Given the description of an element on the screen output the (x, y) to click on. 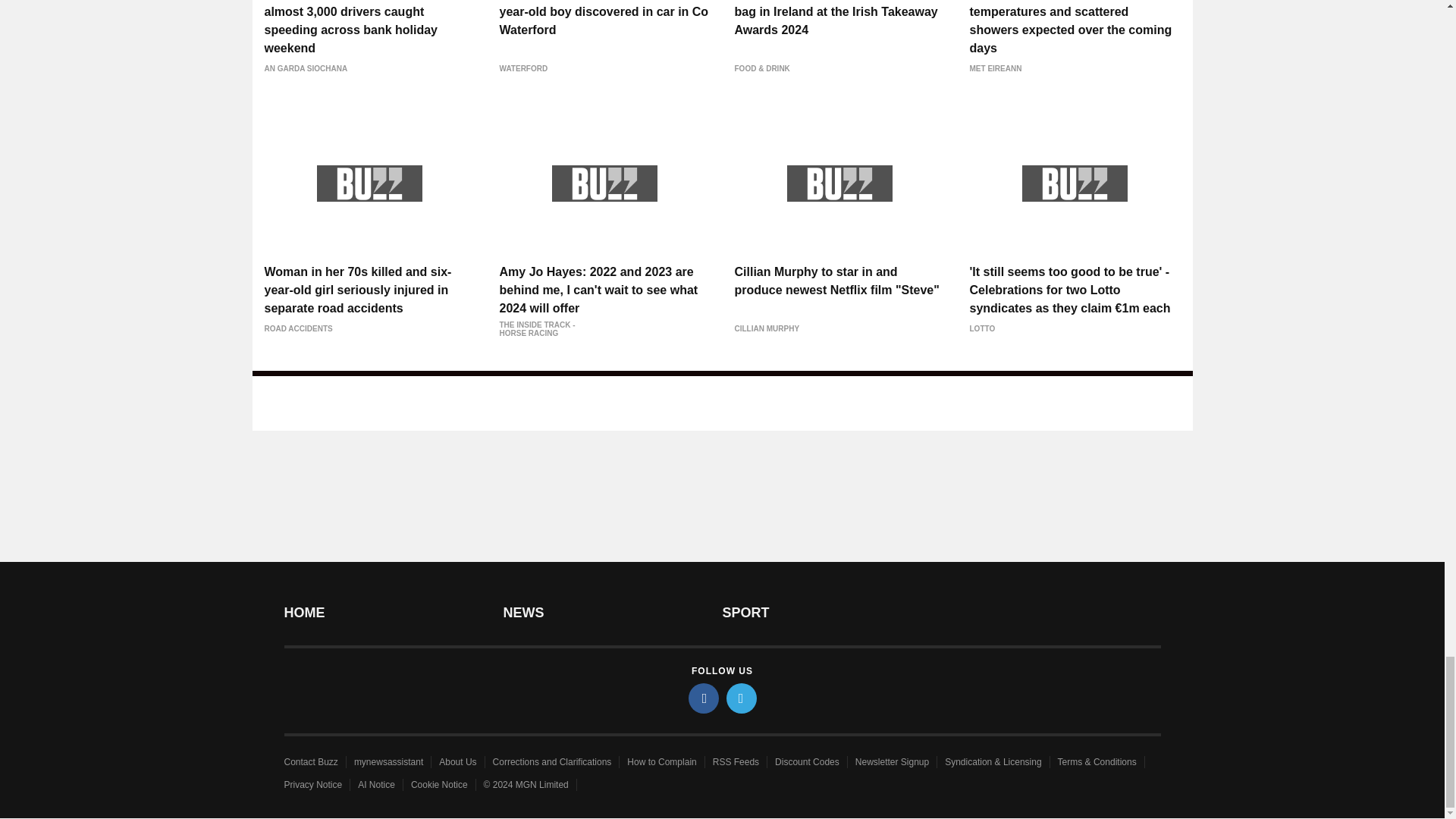
facebook (703, 698)
twitter (741, 698)
